Given the description of an element on the screen output the (x, y) to click on. 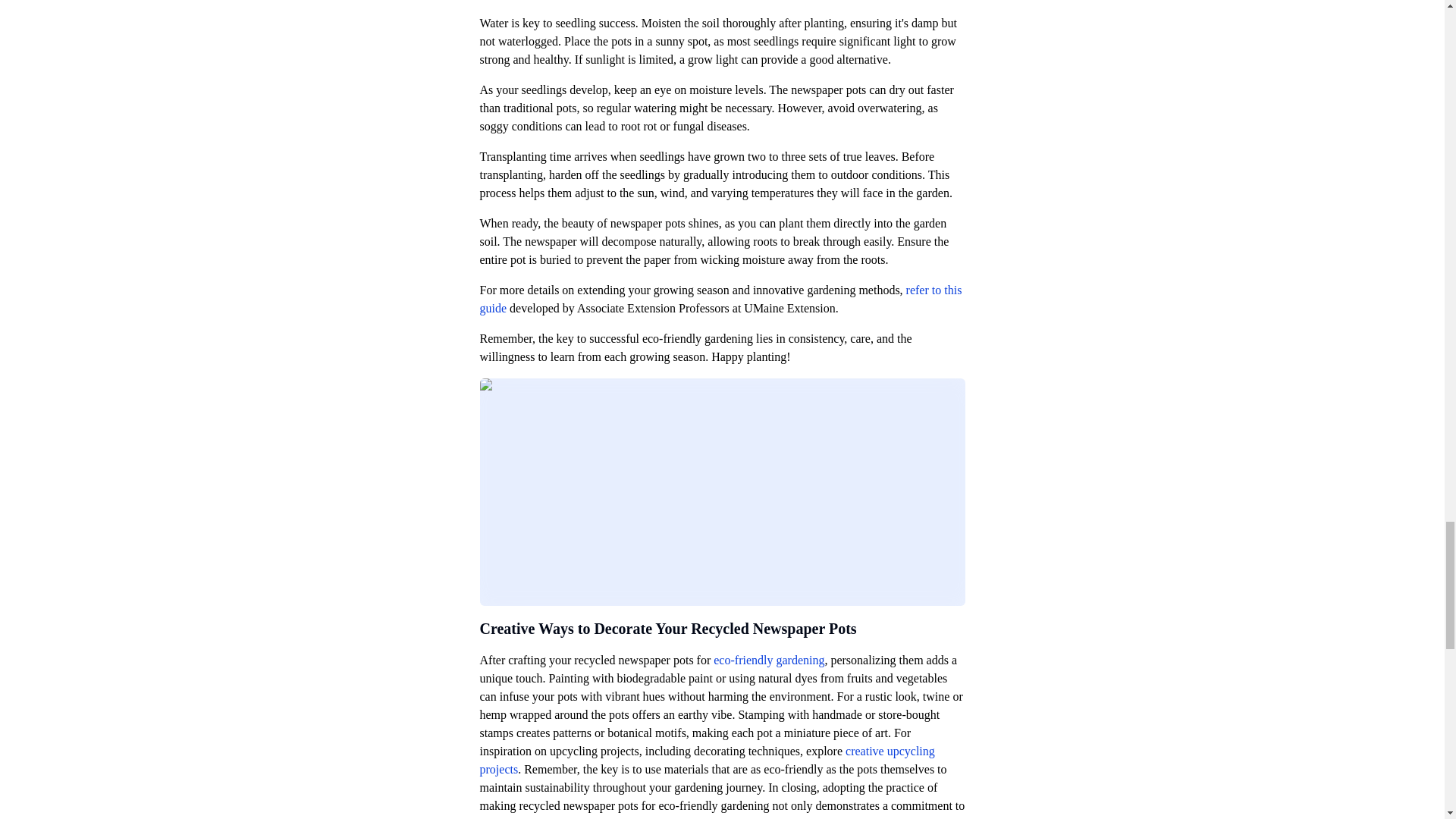
refer to this guide (719, 298)
creative upcycling projects (706, 759)
eco-friendly gardening (768, 659)
